Given the description of an element on the screen output the (x, y) to click on. 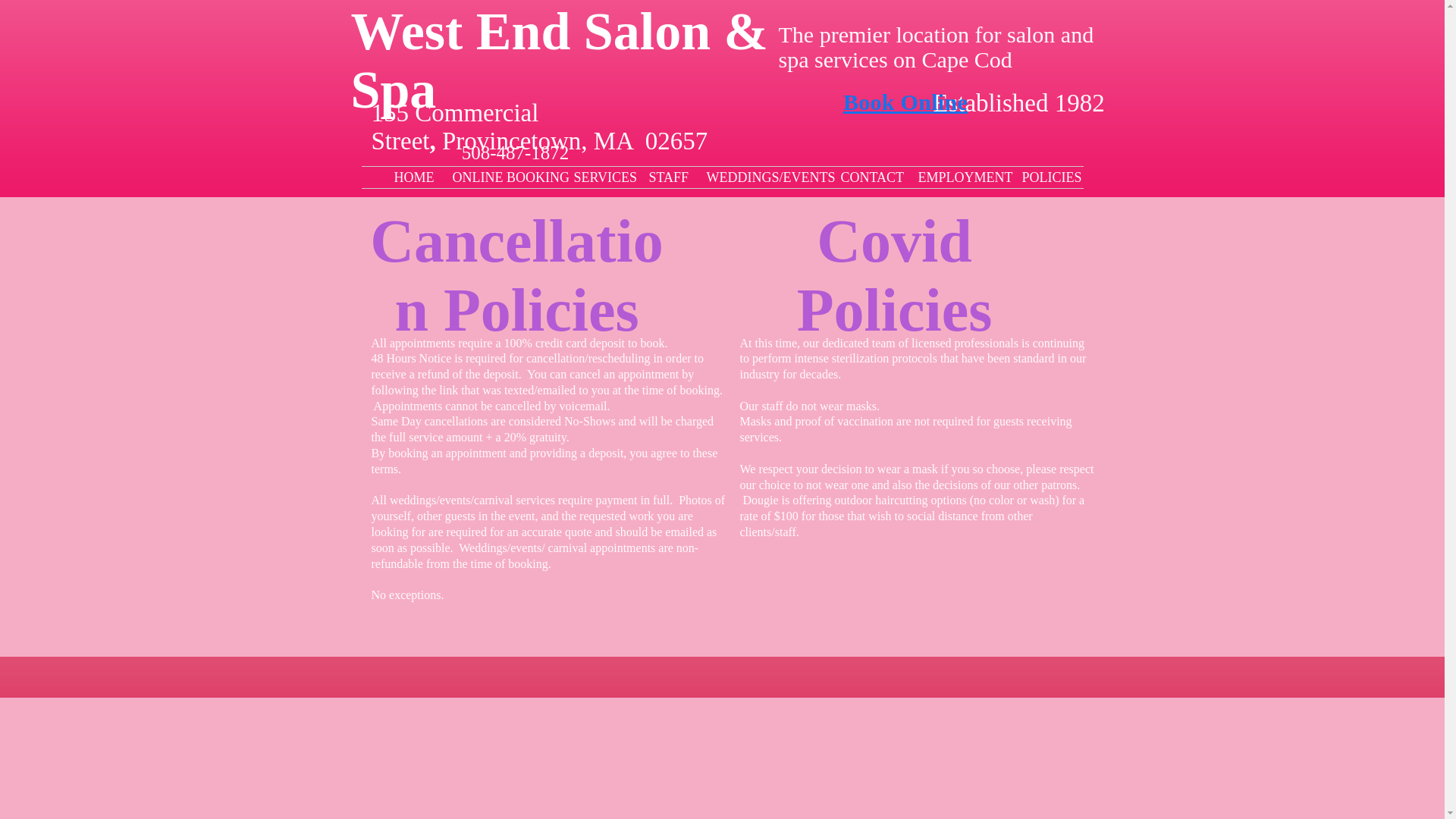
EMPLOYMENT (958, 177)
HOME (411, 177)
STAFF (665, 177)
Book Online (905, 101)
CONTACT (868, 177)
ONLINE BOOKING (501, 177)
SERVICES (599, 177)
POLICIES (1046, 177)
